Given the description of an element on the screen output the (x, y) to click on. 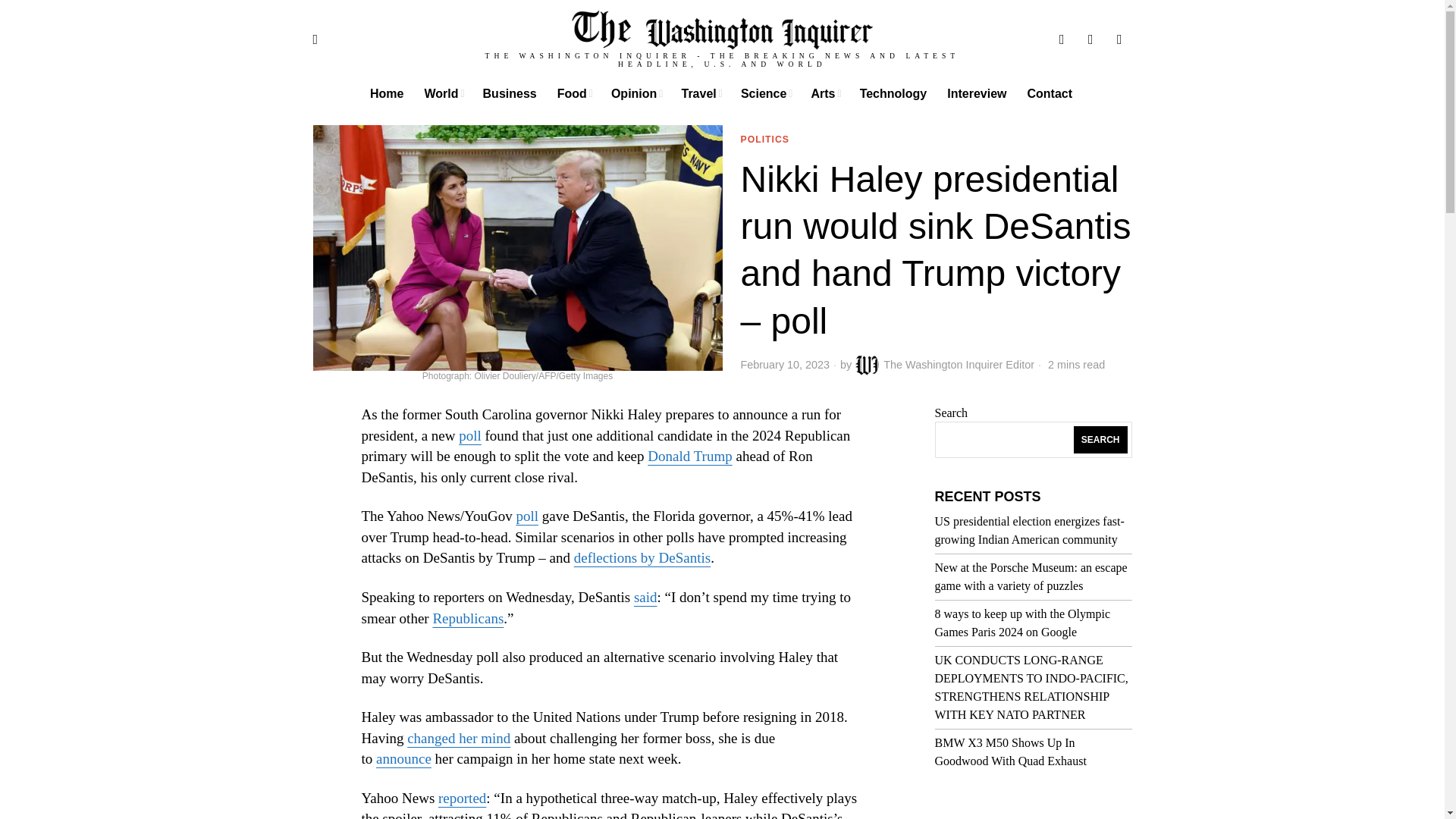
Science (767, 93)
Travel (700, 93)
World (443, 93)
Food (575, 93)
Opinion (637, 93)
Business (511, 93)
Home (387, 93)
10 Feb, 2023 08:26:46 (784, 364)
